Given the description of an element on the screen output the (x, y) to click on. 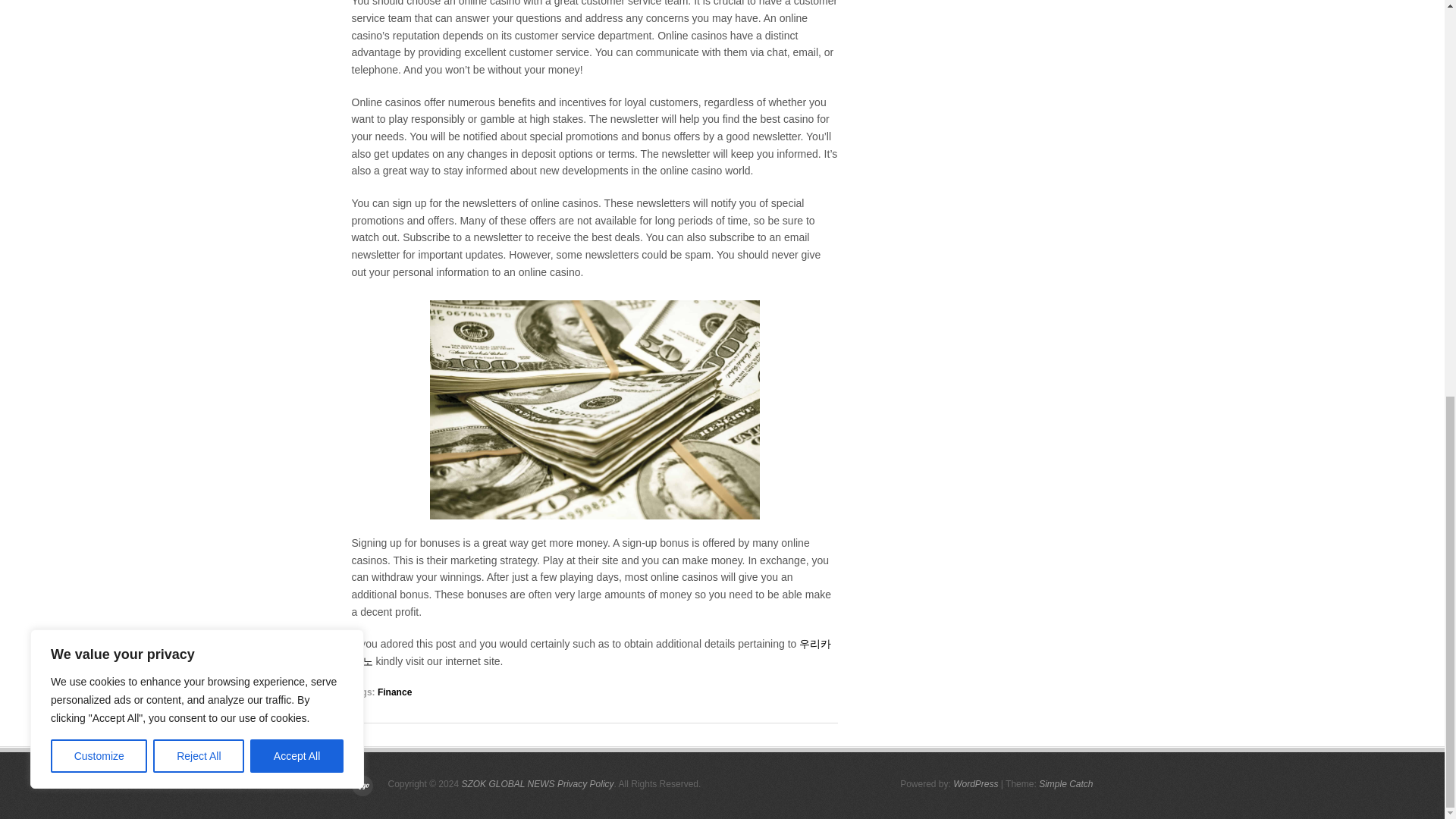
Simple Catch (1066, 783)
Accept All (296, 2)
SZOK GLOBAL NEWS (507, 783)
Reject All (198, 2)
WordPress (975, 783)
Customize (98, 2)
Finance (394, 692)
